Given the description of an element on the screen output the (x, y) to click on. 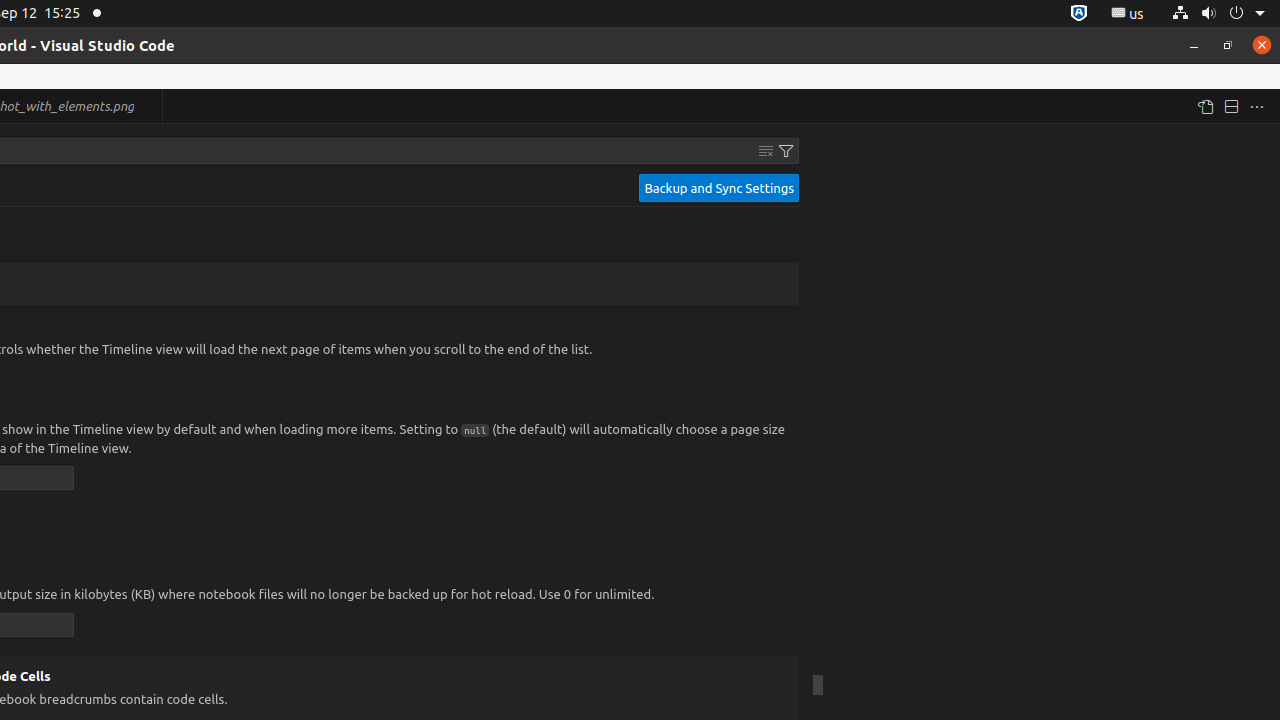
Backup and Sync Settings Element type: push-button (719, 188)
Close (Ctrl+W) Element type: push-button (148, 106)
Open Settings (JSON) Element type: push-button (1205, 106)
